Given the description of an element on the screen output the (x, y) to click on. 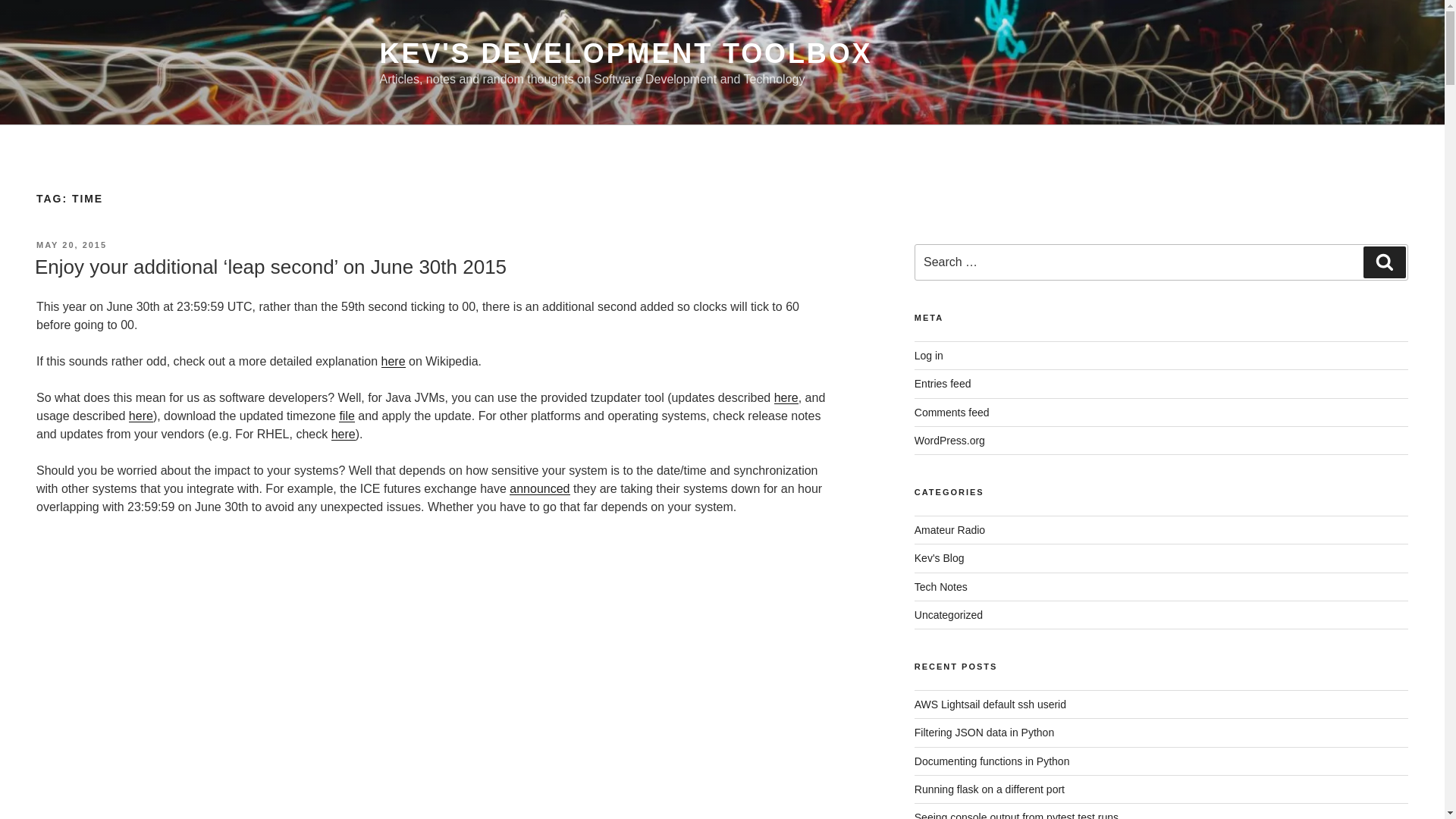
Comments feed (952, 412)
Running flask on a different port (989, 788)
MAY 20, 2015 (71, 244)
file (346, 415)
Kev's Blog (938, 558)
Amateur Radio (949, 530)
WordPress.org (949, 440)
here (392, 360)
AWS Lightsail default ssh userid (989, 704)
Documenting functions in Python (992, 761)
here (785, 397)
Log in (928, 355)
KEV'S DEVELOPMENT TOOLBOX (625, 52)
Entries feed (942, 383)
Tech Notes (941, 586)
